Given the description of an element on the screen output the (x, y) to click on. 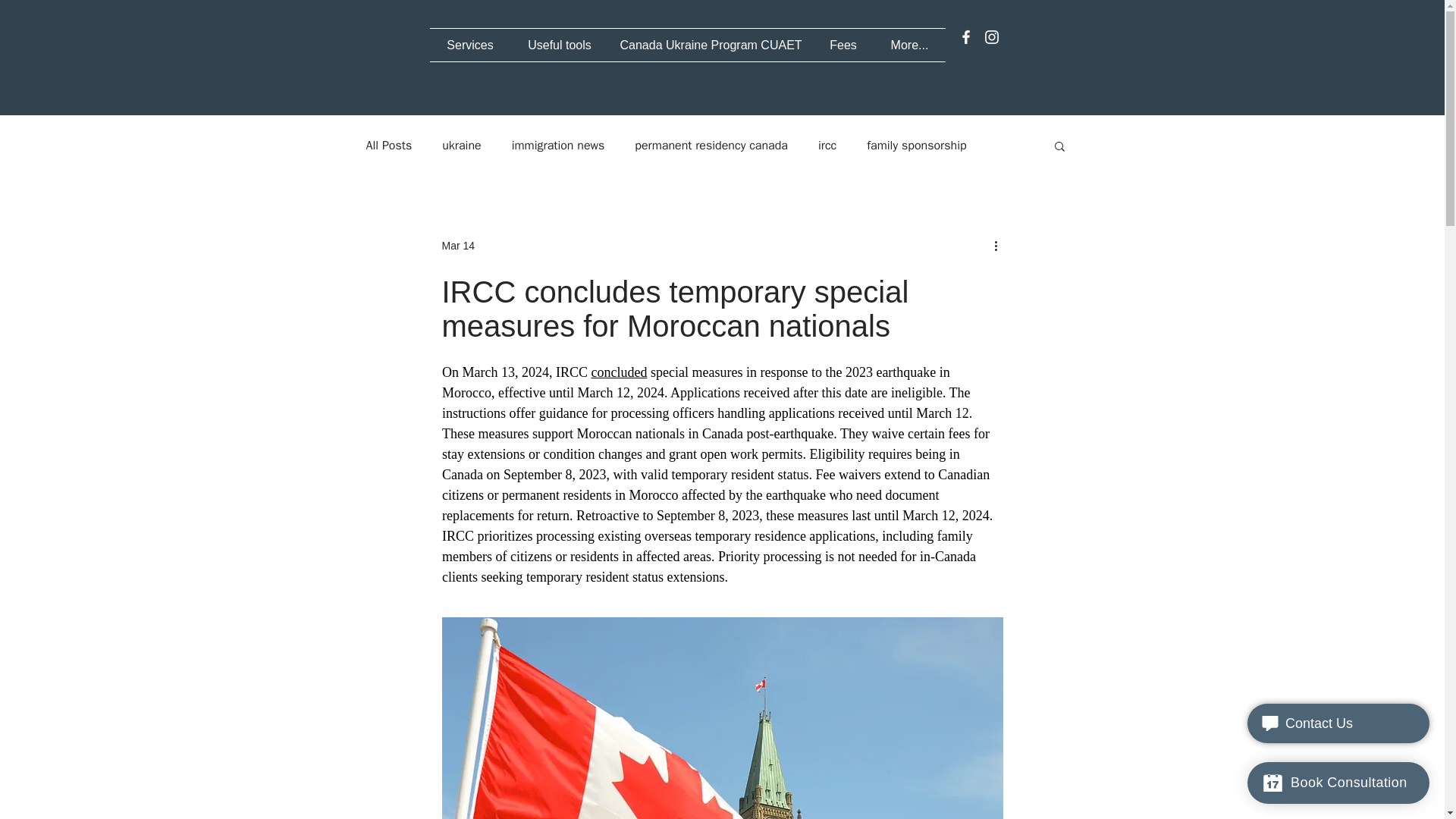
Canada Ukraine Program CUAET (710, 44)
concluded (618, 372)
ukraine (461, 145)
Book Consultation (1338, 782)
Services (470, 44)
Useful tools (559, 44)
All Posts (388, 145)
Fees (843, 44)
family sponsorship (916, 145)
ircc (826, 145)
permanent residency canada (710, 145)
Contact Us (1338, 722)
Mar 14 (457, 245)
immigration news (558, 145)
